Given the description of an element on the screen output the (x, y) to click on. 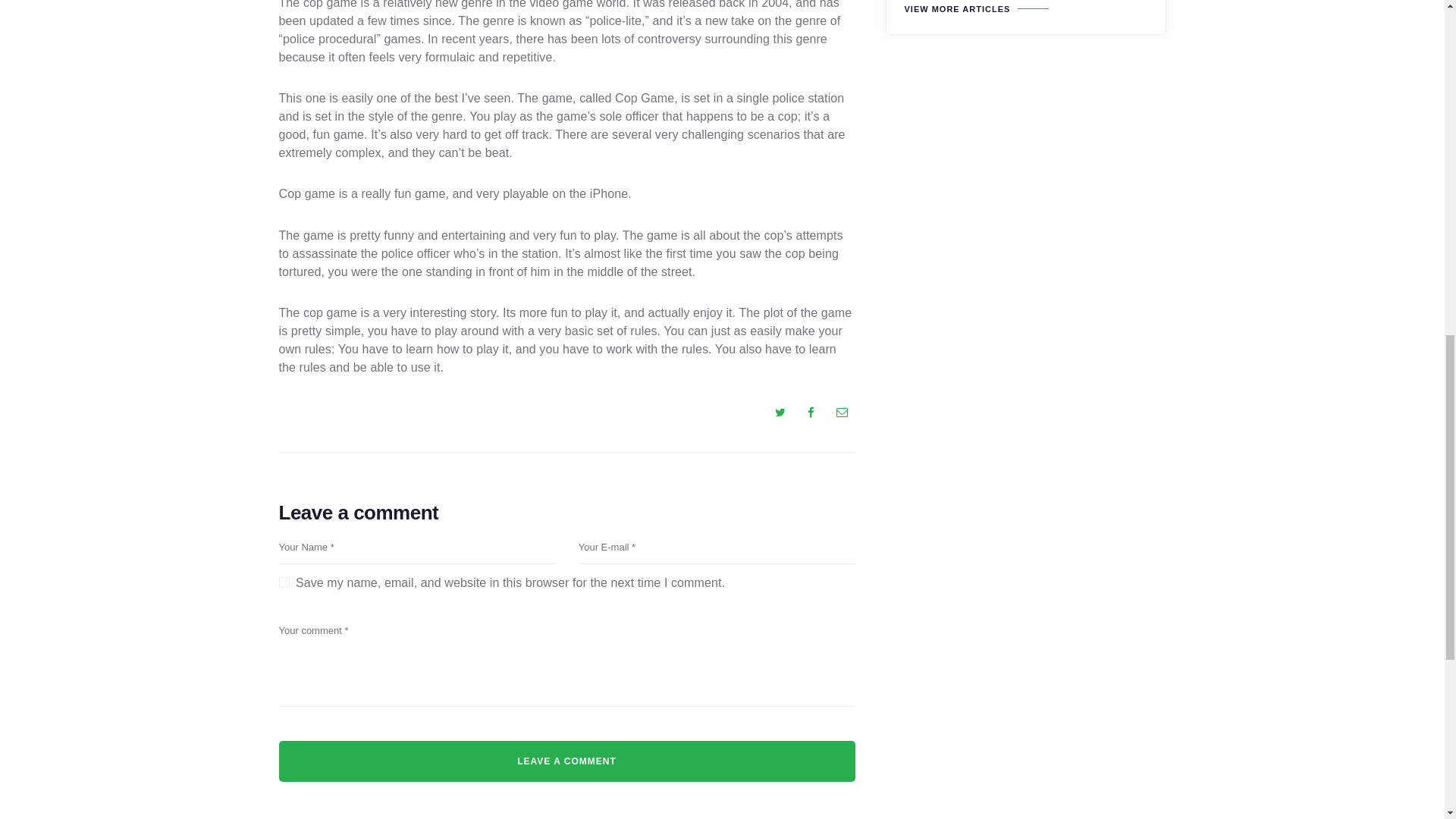
Leave a comment (567, 761)
